Given the description of an element on the screen output the (x, y) to click on. 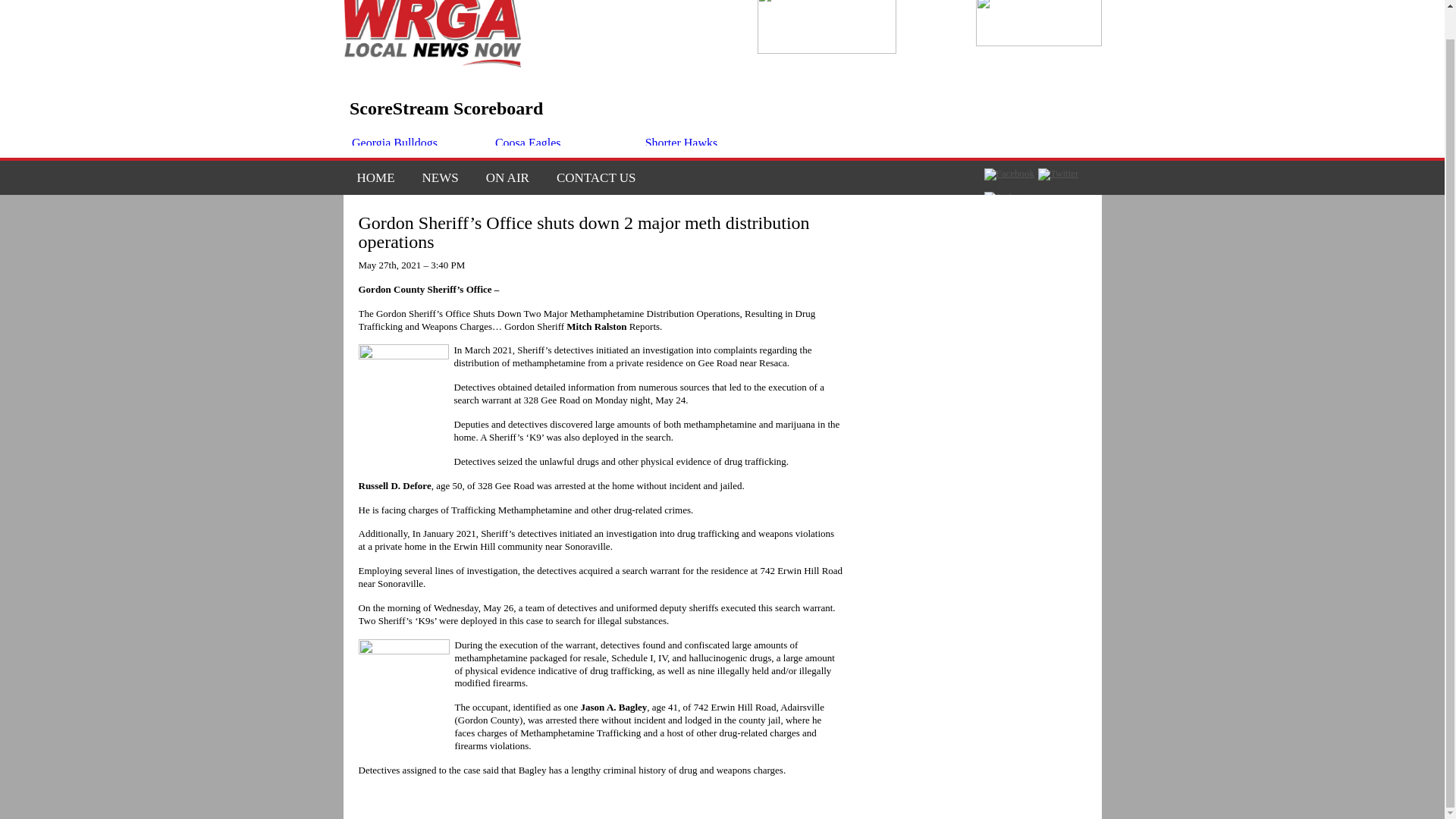
Podcasts (1007, 196)
CONTACT US (589, 177)
HOME (374, 177)
NEWS (440, 177)
Facebook (1009, 174)
ON AIR (507, 177)
Twitter (1058, 174)
